Given the description of an element on the screen output the (x, y) to click on. 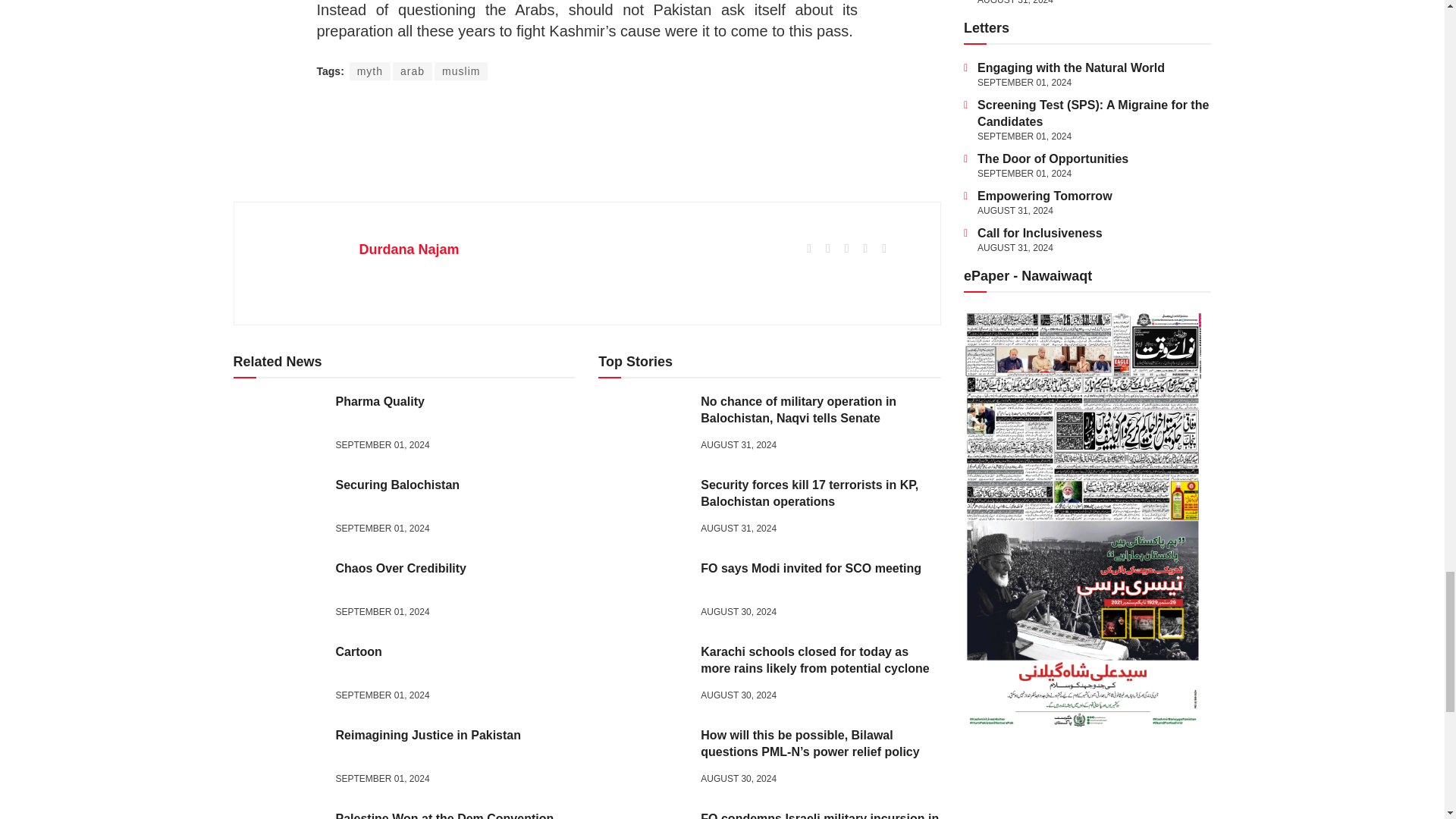
FO says Modi invited for SCO meeting (643, 591)
Reimagining Justice in Pakistan (278, 758)
Securing Balochistan (278, 507)
Chaos Over Credibility (278, 591)
Cartoon (278, 674)
Pharma Quality (278, 425)
